Given the description of an element on the screen output the (x, y) to click on. 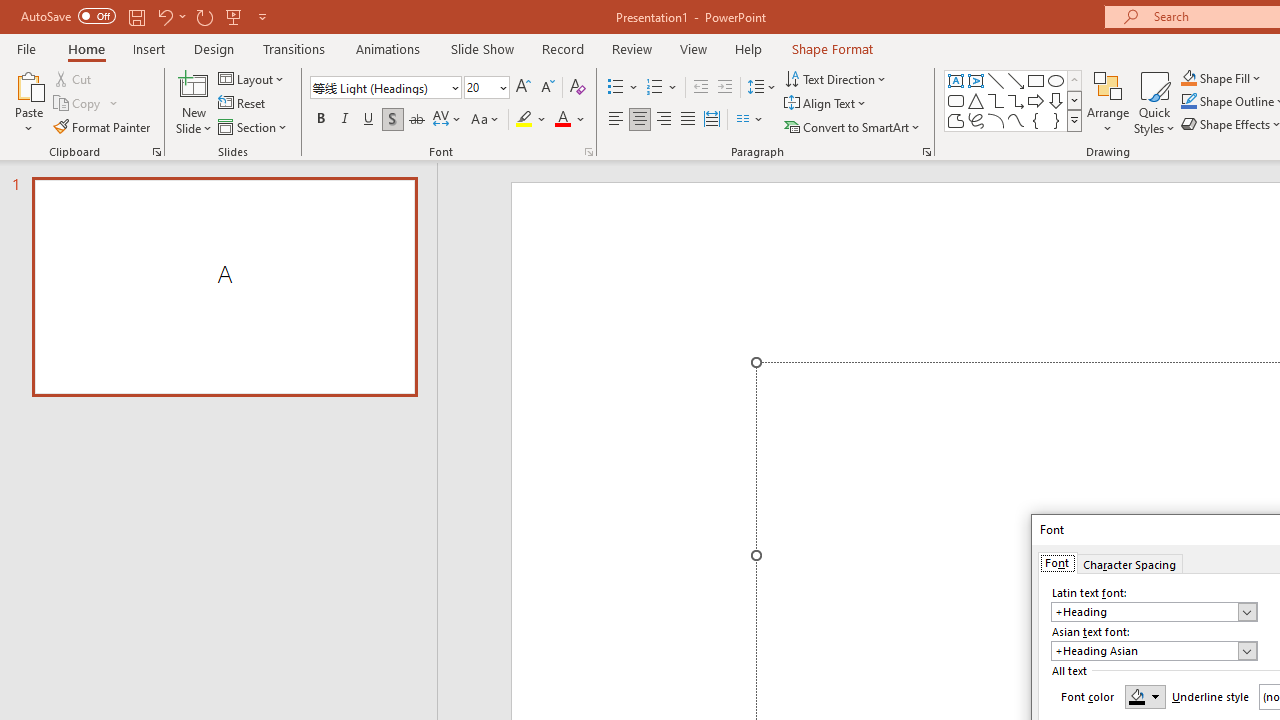
Columns (750, 119)
Character Spacing (447, 119)
Reset (243, 103)
Increase Font Size (522, 87)
Shape Outline Blue, Accent 1 (1188, 101)
Shapes (1074, 120)
Latin text font (1154, 611)
Arrow: Right (1035, 100)
Asian text font (1144, 651)
Layout (252, 78)
